Given the description of an element on the screen output the (x, y) to click on. 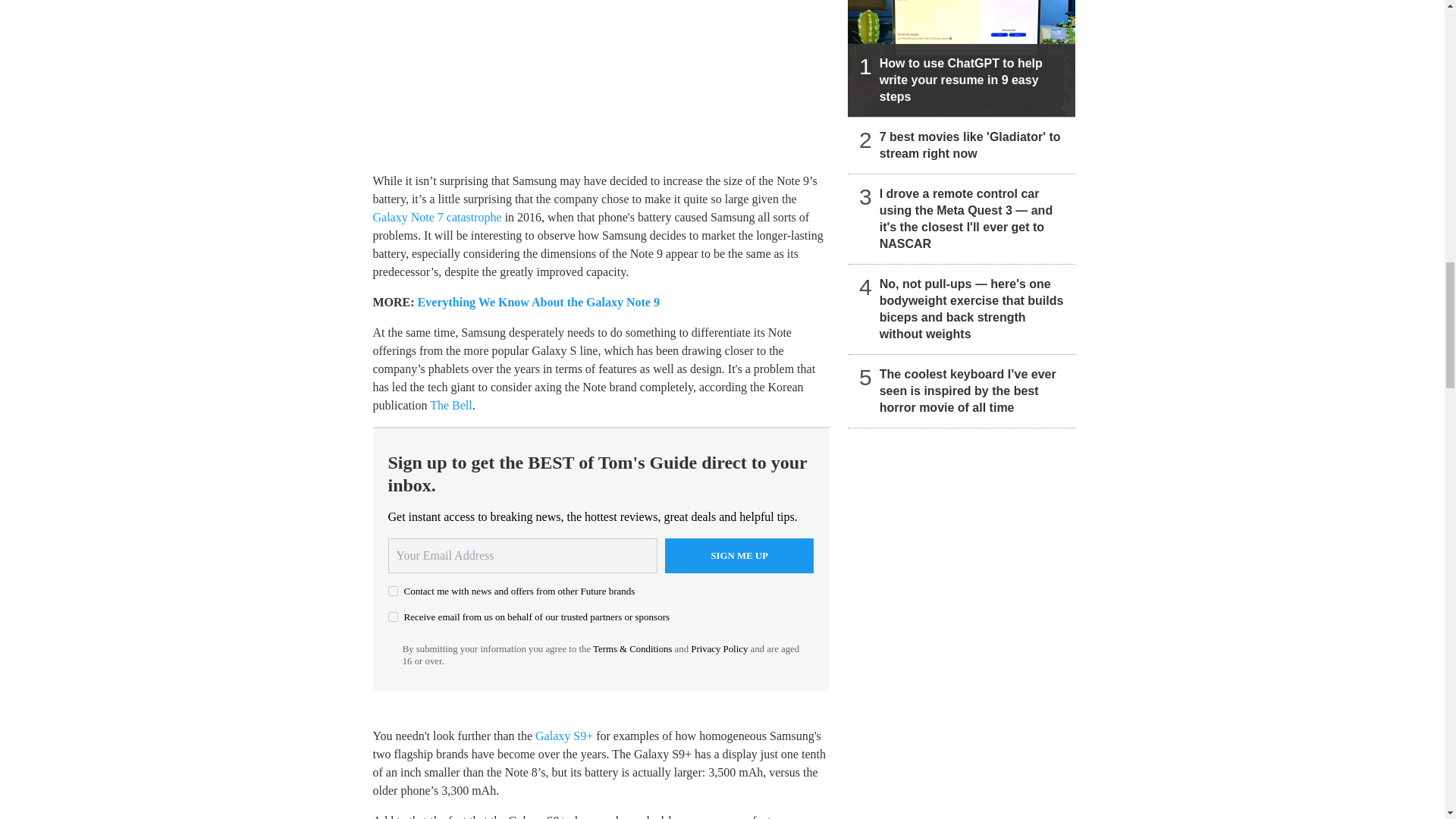
on (392, 616)
on (392, 591)
Sign me up (739, 555)
